Given the description of an element on the screen output the (x, y) to click on. 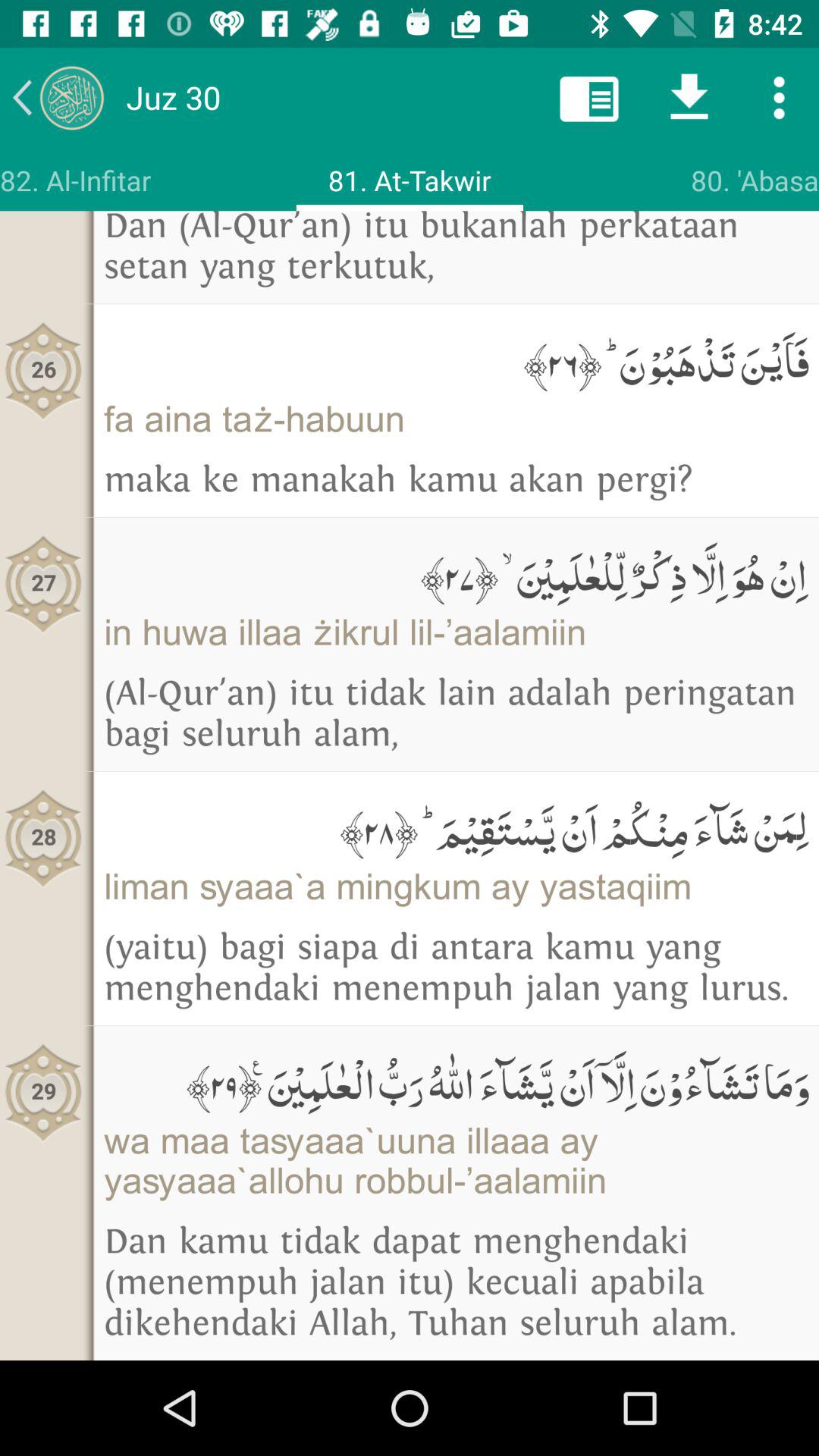
press icon next to the 29 item (456, 1081)
